Given the description of an element on the screen output the (x, y) to click on. 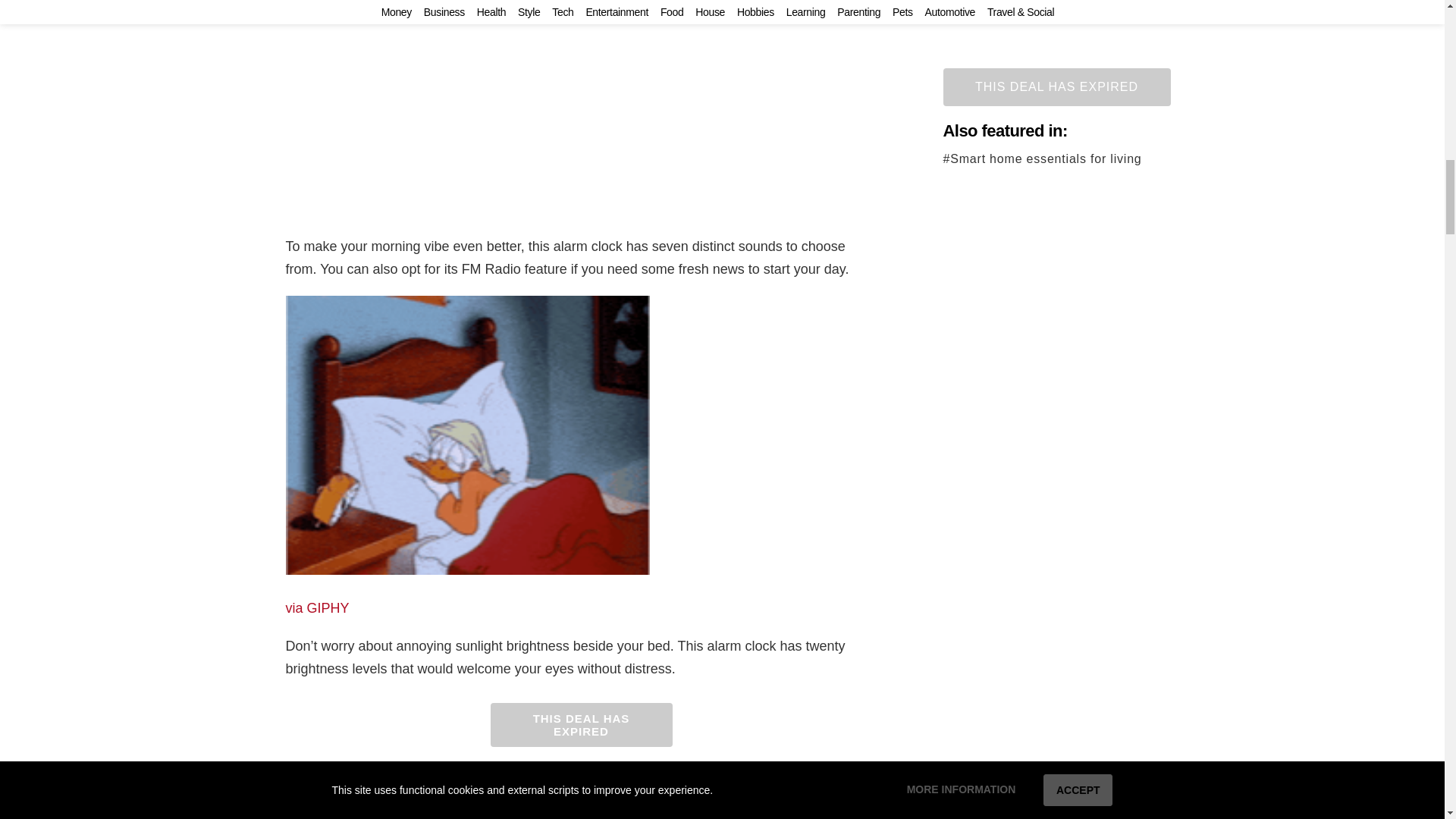
THIS DEAL HAS EXPIRED (580, 724)
via GIPHY (317, 607)
Smart home essentials for living (508, 789)
